Given the description of an element on the screen output the (x, y) to click on. 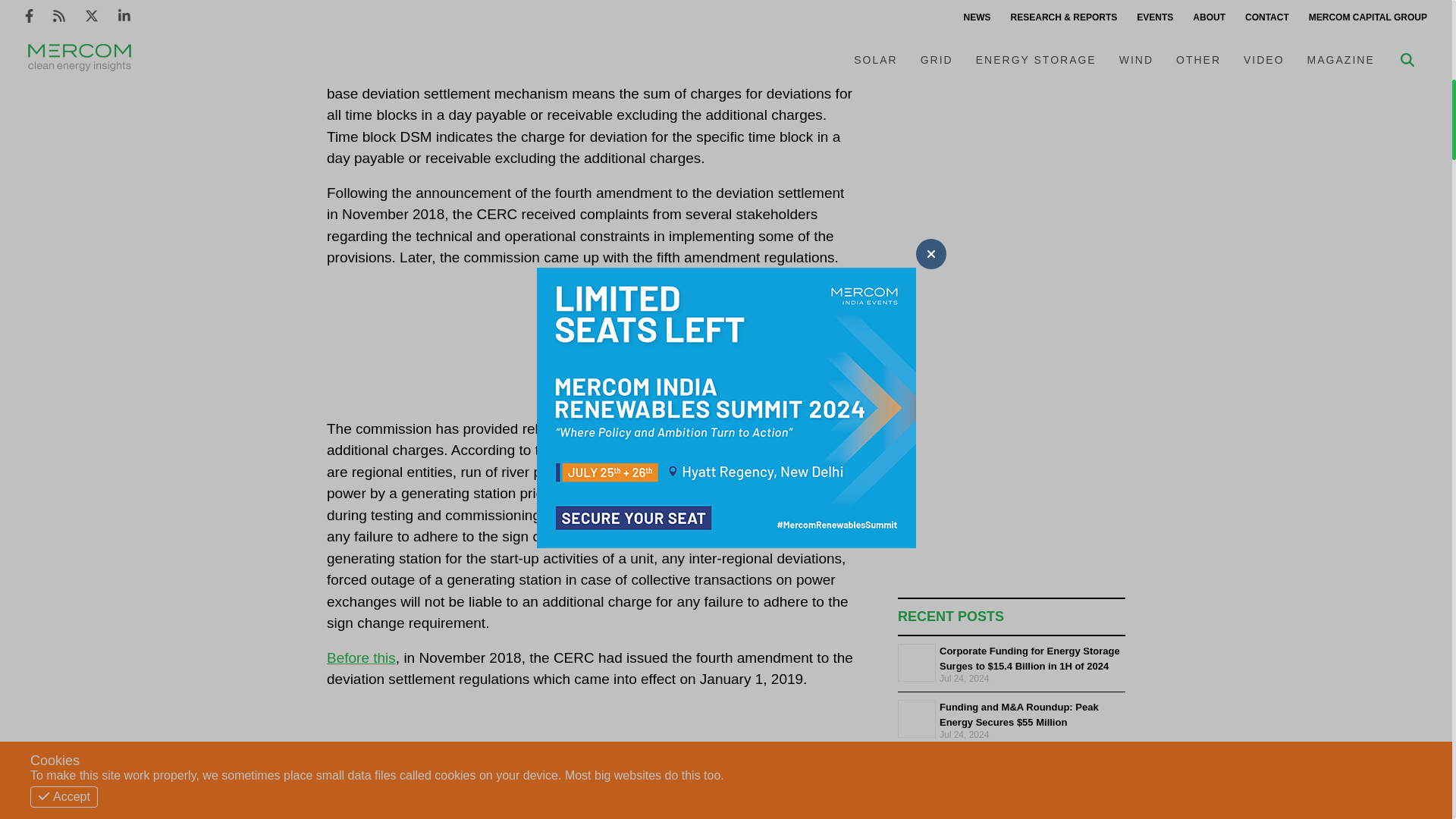
3rd party ad content (704, 363)
3rd party ad content (704, 779)
3rd party ad content (1011, 40)
